Given the description of an element on the screen output the (x, y) to click on. 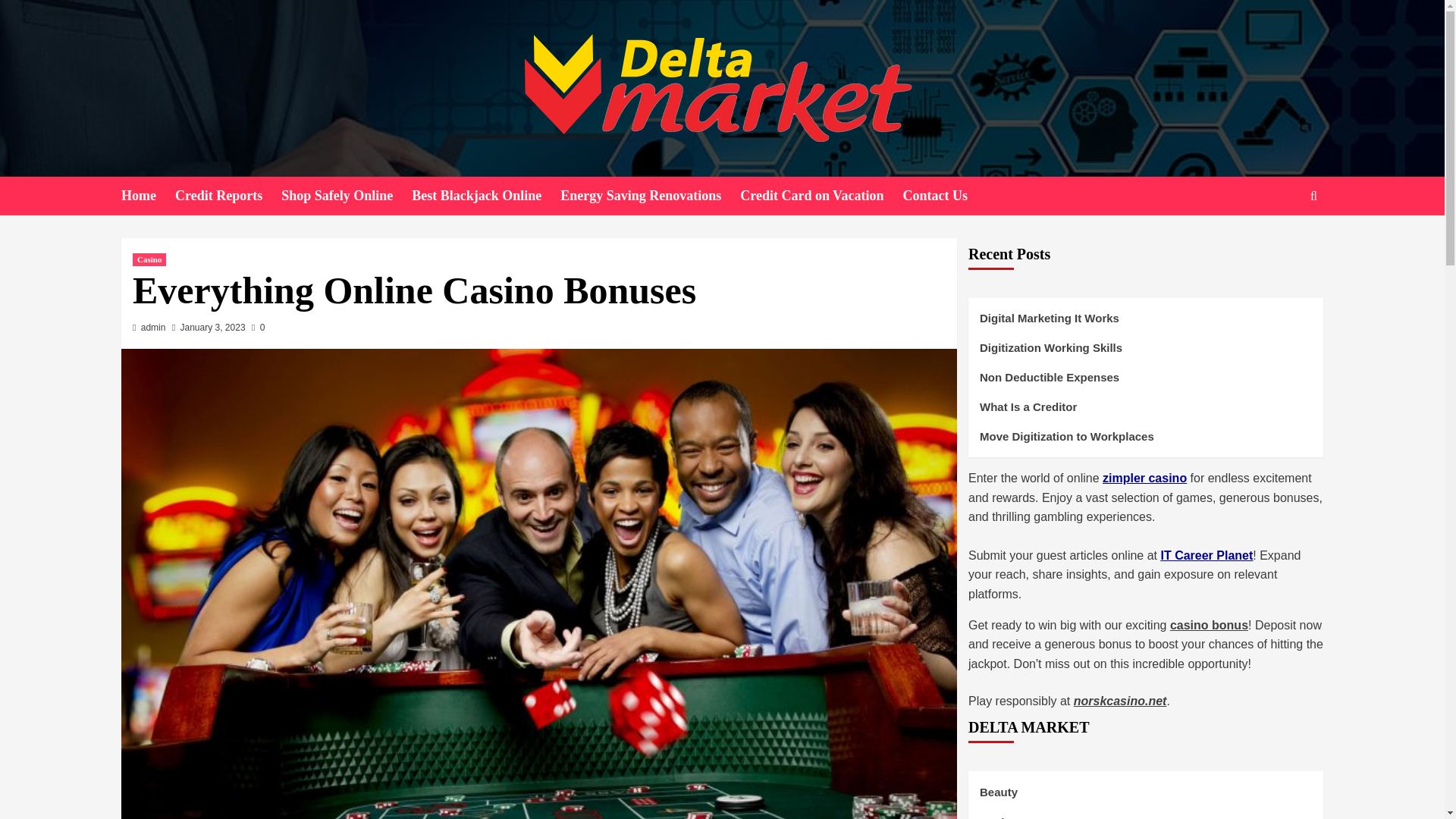
Search (1278, 243)
0 (257, 327)
Contact Us (944, 195)
January 3, 2023 (213, 327)
Credit Card on Vacation (820, 195)
Energy Saving Renovations (649, 195)
Casino (148, 259)
Shop Safely Online (346, 195)
Home (147, 195)
Credit Reports (227, 195)
admin (153, 327)
Best Blackjack Online (486, 195)
